Given the description of an element on the screen output the (x, y) to click on. 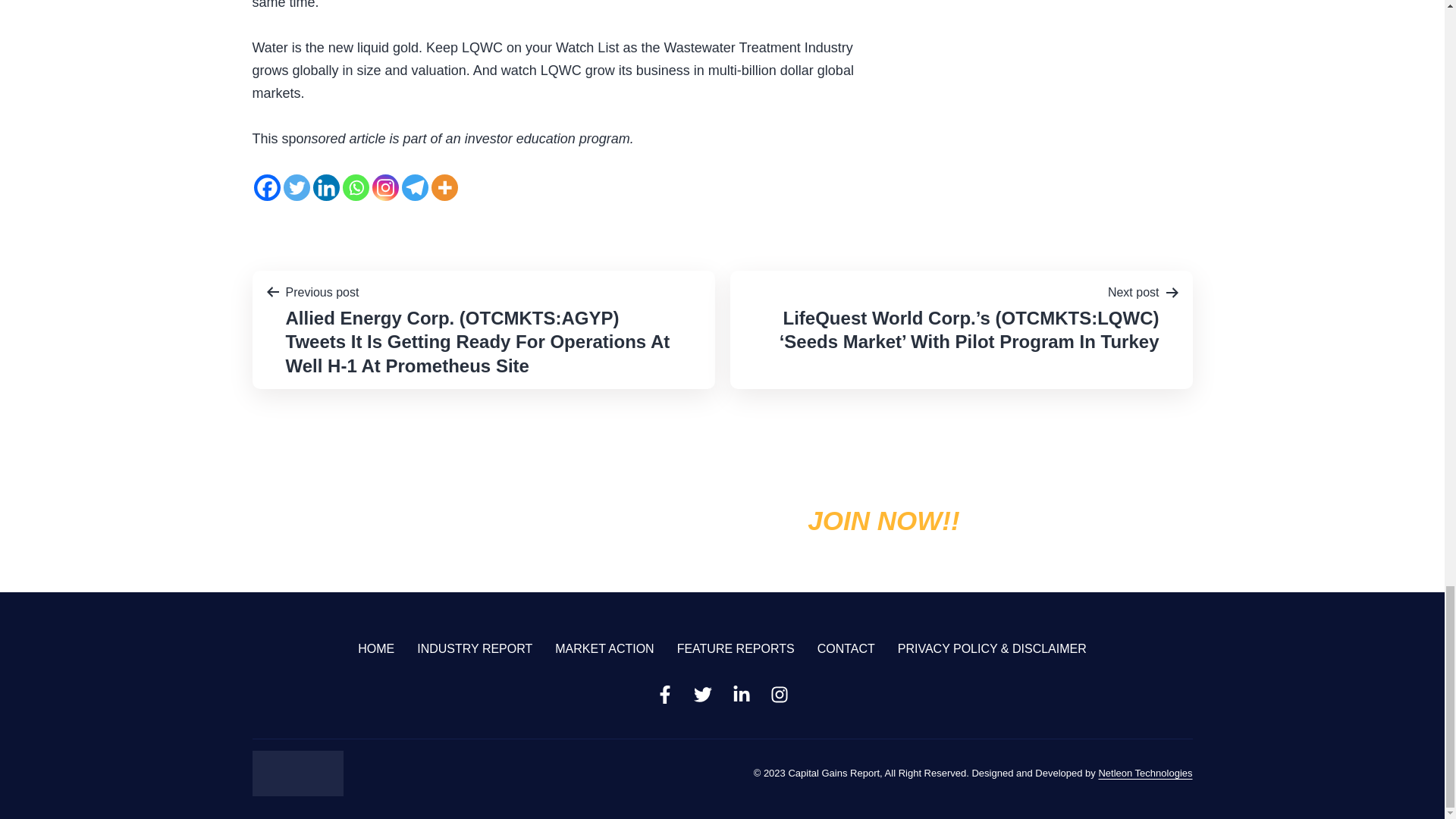
Twitter (296, 187)
Whatsapp (355, 187)
Telegram (414, 187)
Linkedin (326, 187)
Instagram (384, 187)
Facebook (266, 187)
More (443, 187)
HOME (376, 648)
